Given the description of an element on the screen output the (x, y) to click on. 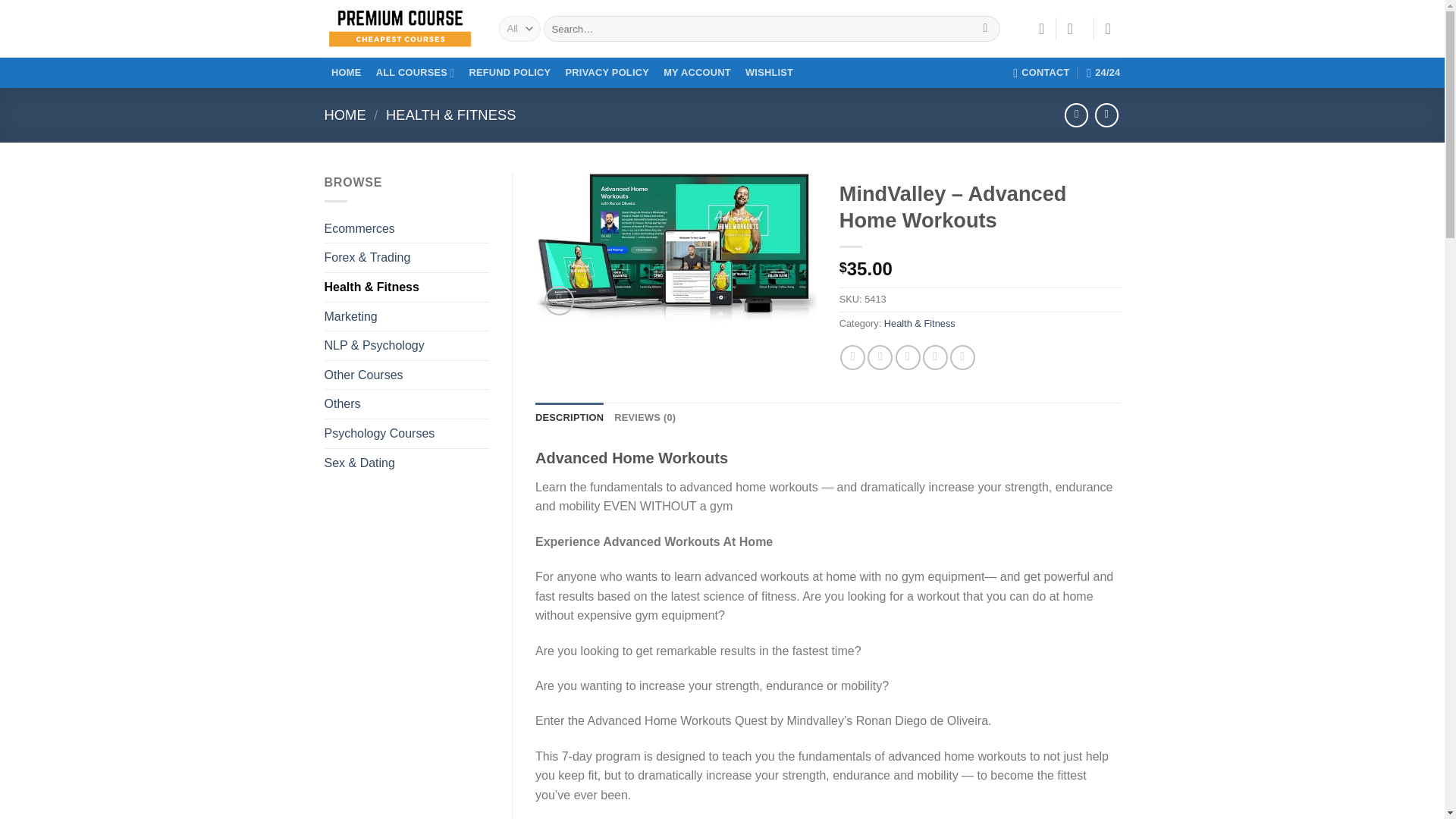
HOME (345, 114)
Psychology Courses (406, 433)
HOME (346, 72)
Zoom (558, 300)
Marketing (406, 316)
ALL COURSES (414, 72)
MY ACCOUNT (697, 72)
REFUND POLICY (509, 72)
Email to a Friend (907, 357)
